Given the description of an element on the screen output the (x, y) to click on. 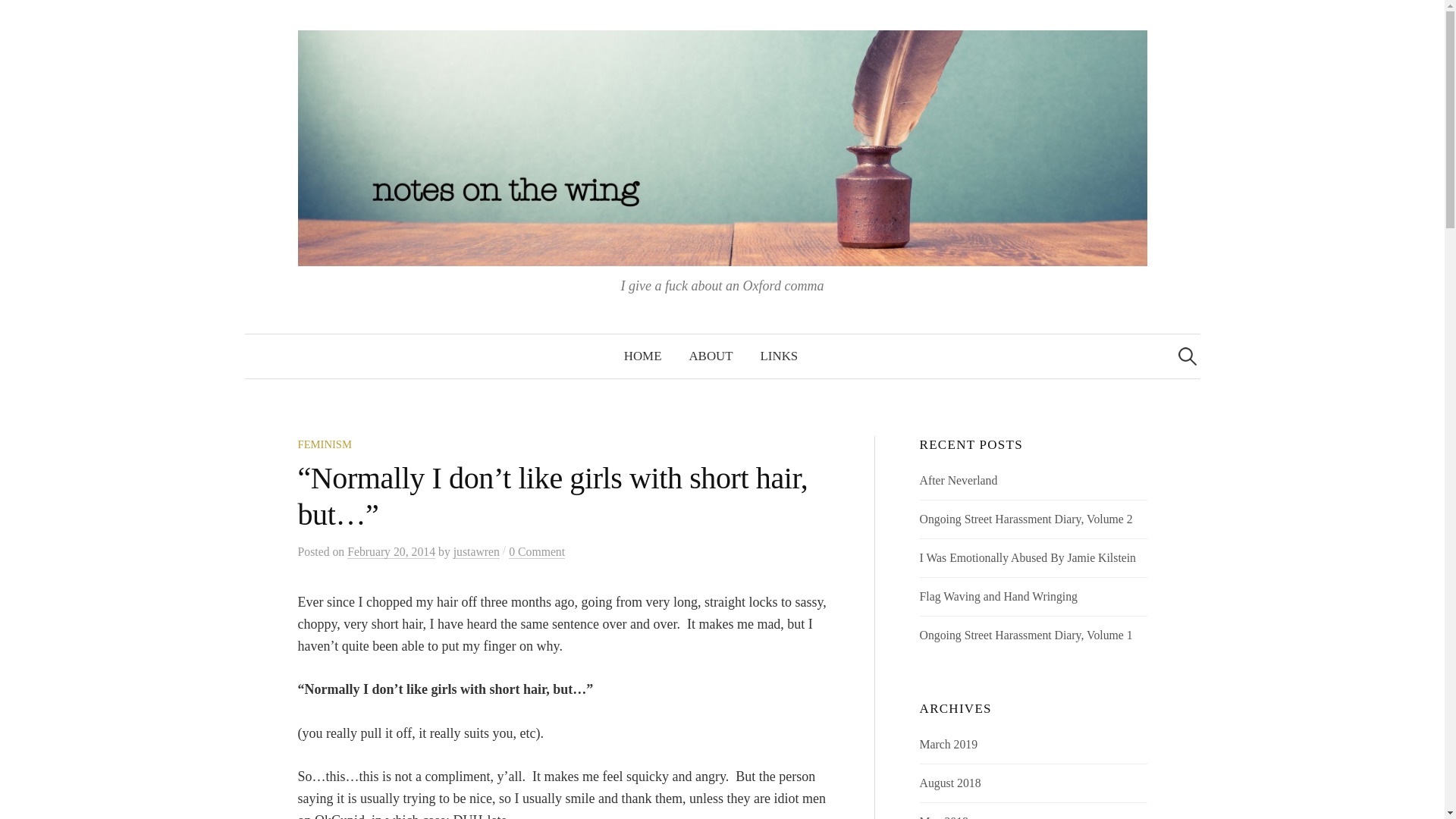
August 2018 (950, 782)
Flag Waving and Hand Wringing (998, 595)
After Neverland (958, 480)
HOME (642, 356)
March 2019 (949, 744)
Search (18, 18)
May 2018 (944, 816)
Ongoing Street Harassment Diary, Volume 2 (1026, 518)
Ongoing Street Harassment Diary, Volume 1 (1026, 634)
FEMINISM (324, 444)
